Given the description of an element on the screen output the (x, y) to click on. 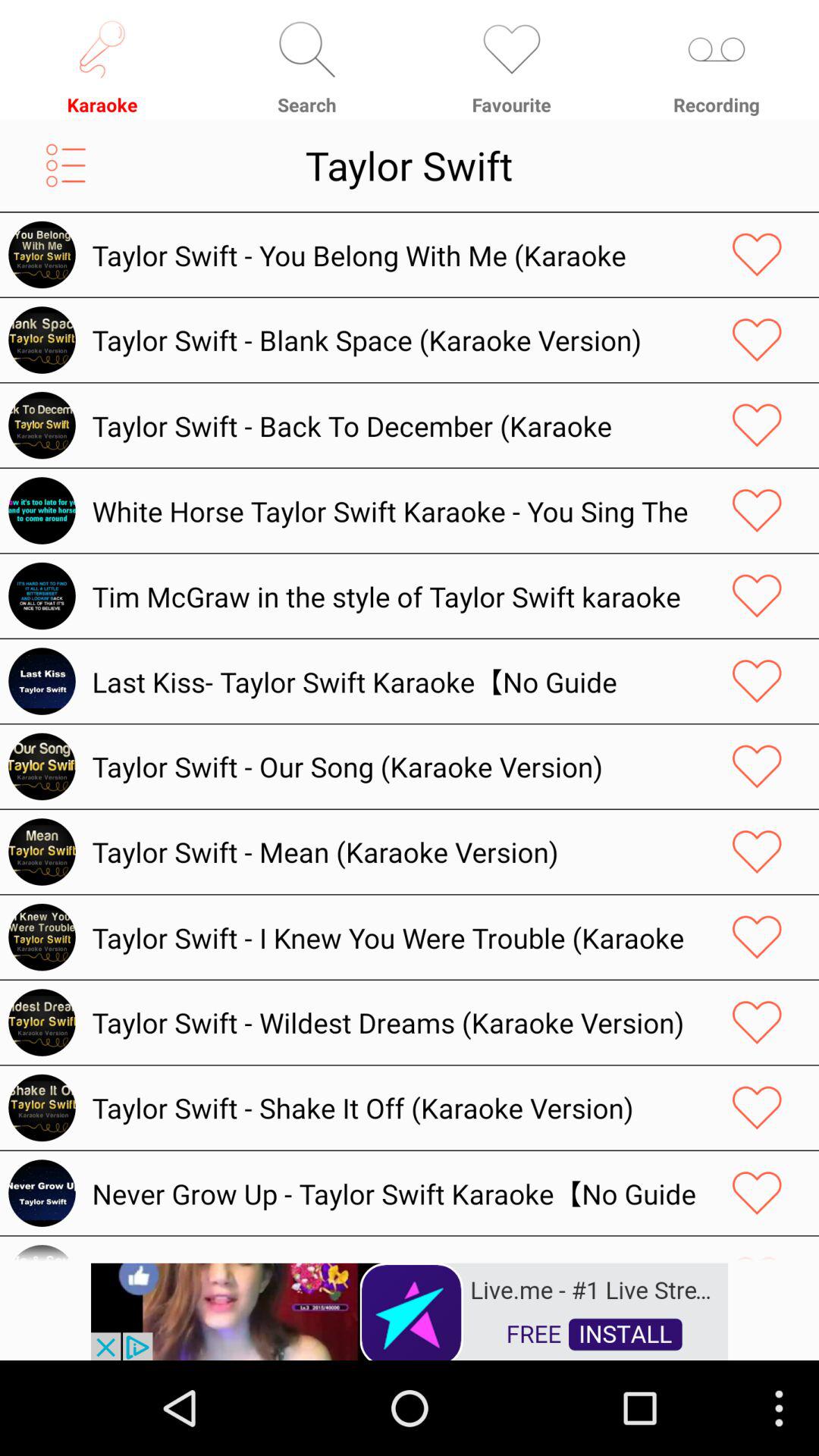
add to favorites (756, 851)
